Given the description of an element on the screen output the (x, y) to click on. 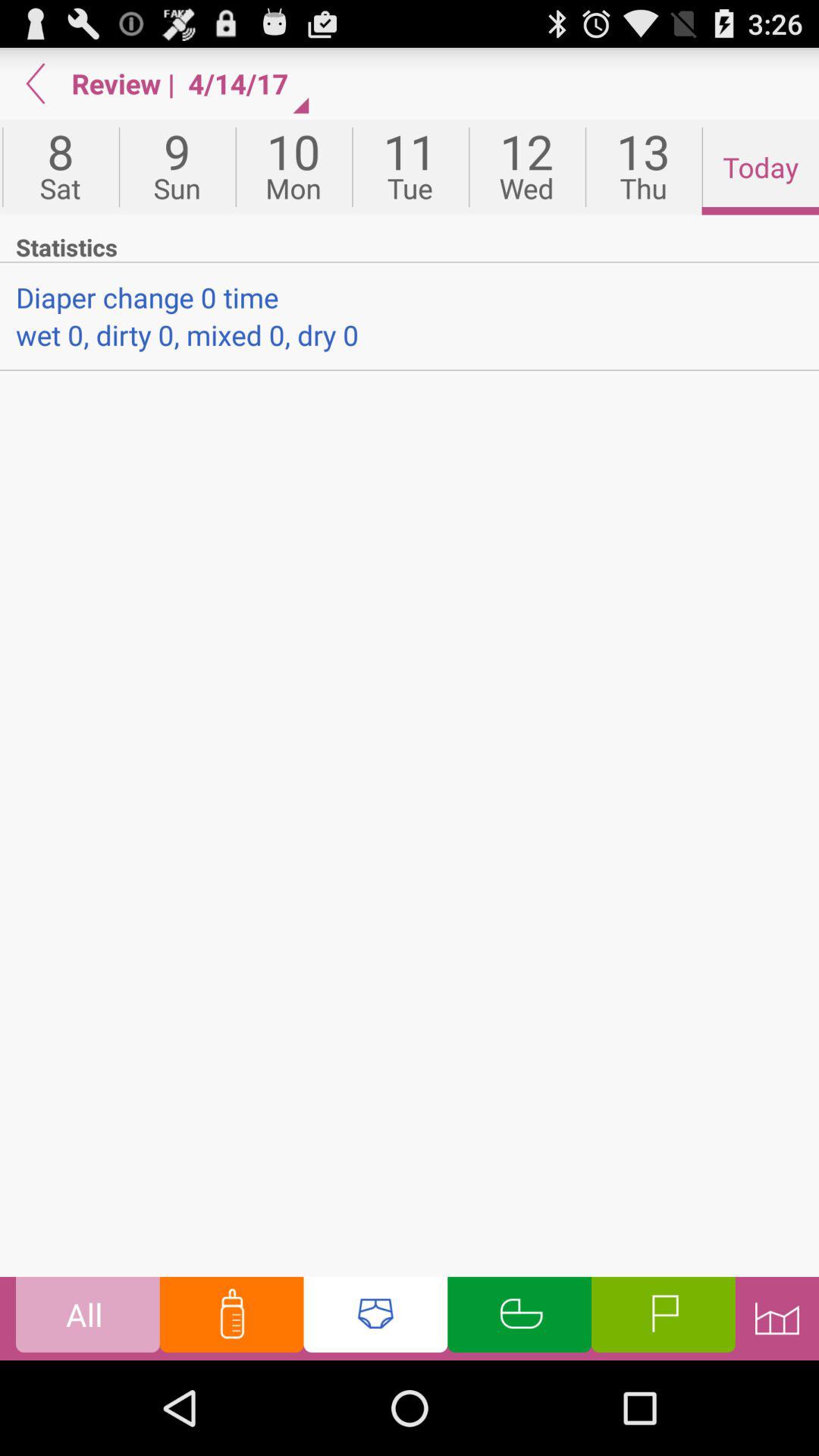
select item next to the 10 icon (410, 166)
